Given the description of an element on the screen output the (x, y) to click on. 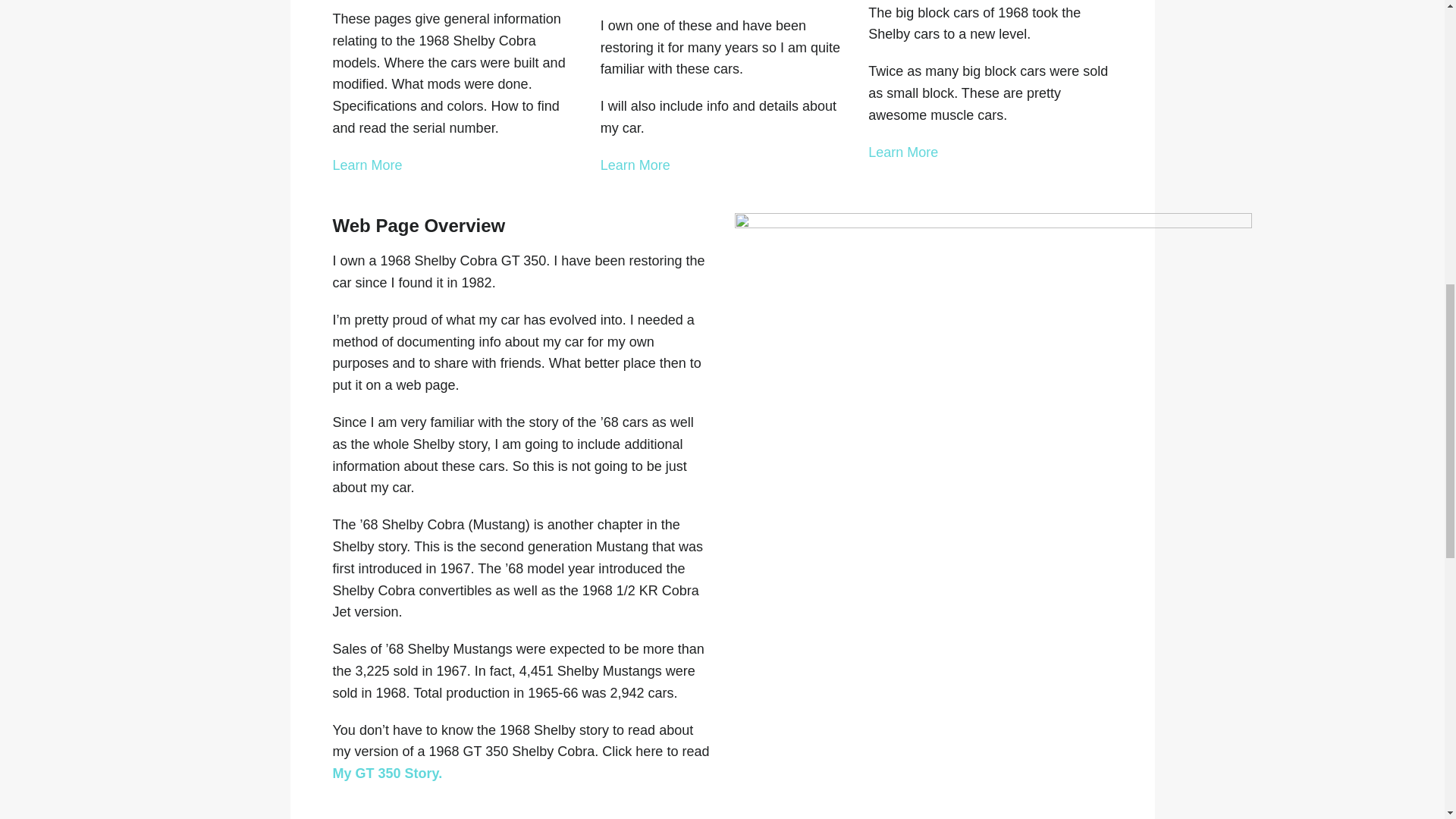
Learn More (366, 165)
Learn More (634, 165)
Learn More (902, 151)
My GT 350 Story. (386, 773)
